Given the description of an element on the screen output the (x, y) to click on. 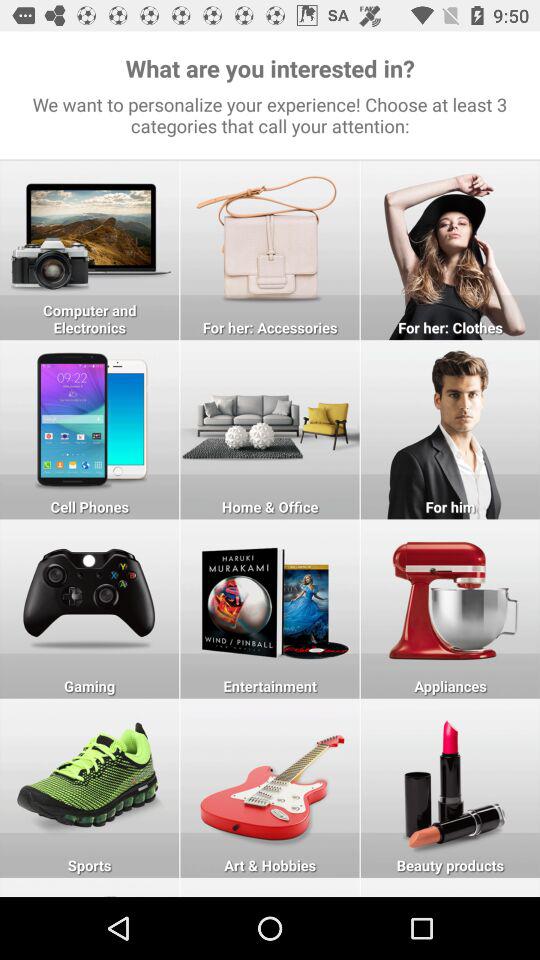
takes the user to the sports area of the site (89, 787)
